Given the description of an element on the screen output the (x, y) to click on. 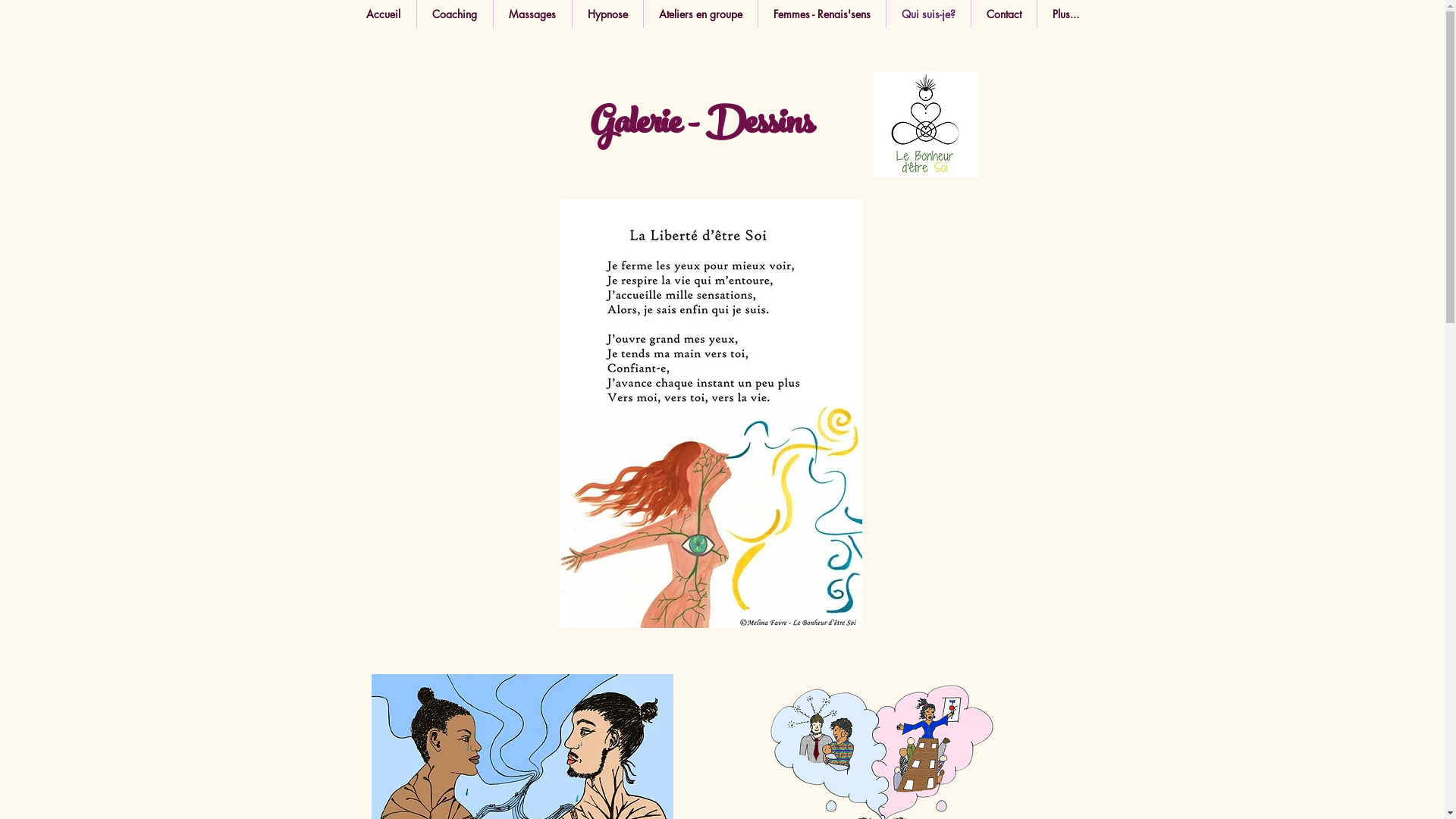
Massages Element type: text (531, 14)
Qui suis-je? Element type: text (927, 14)
Hypnose Element type: text (606, 14)
Coaching Element type: text (454, 14)
Contact Element type: text (1002, 14)
Ateliers en groupe Element type: text (699, 14)
Accueil Element type: text (382, 14)
Femmes - Renais'sens Element type: text (821, 14)
